Given the description of an element on the screen output the (x, y) to click on. 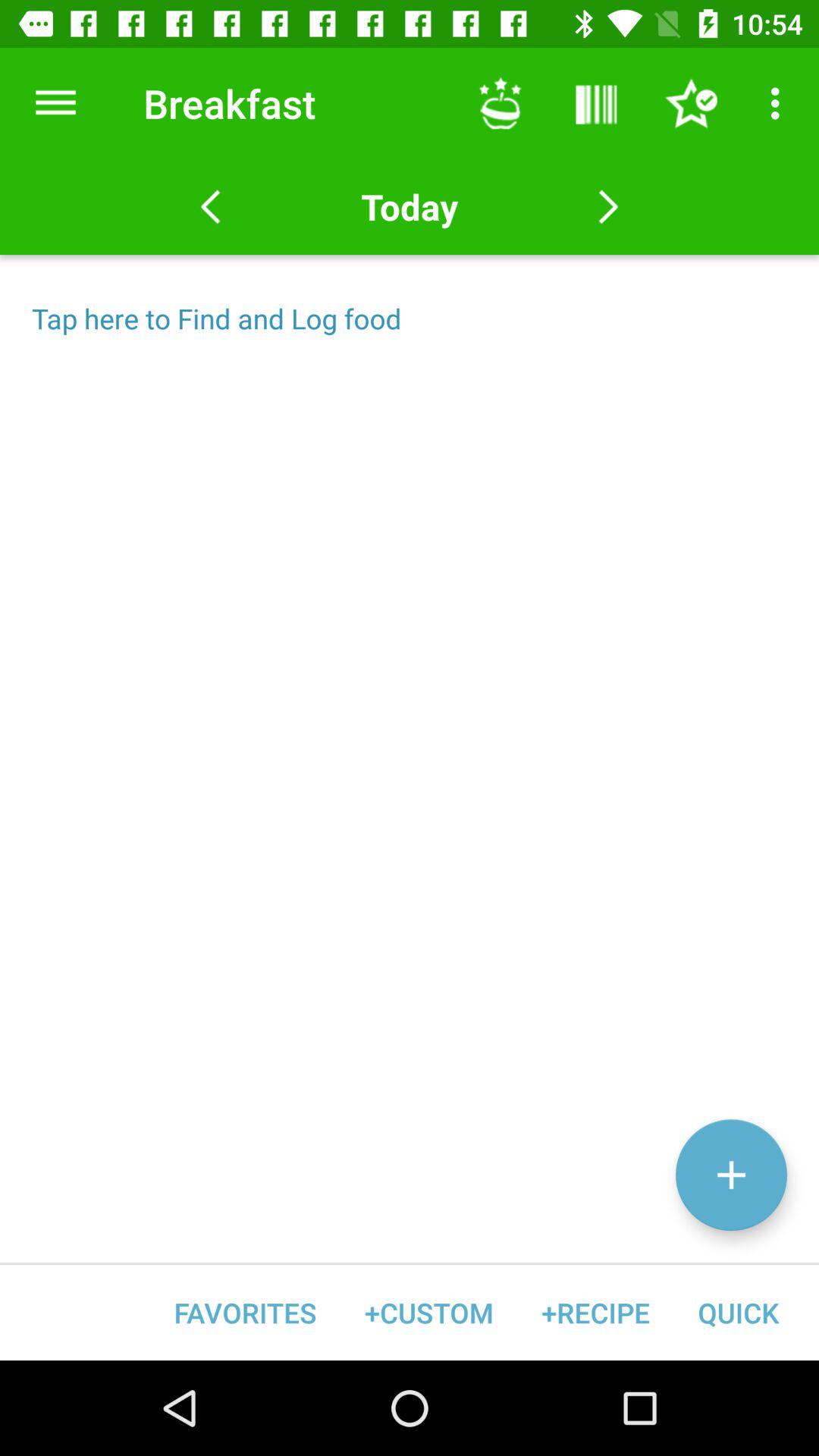
tap item to the left of +recipe icon (428, 1312)
